Given the description of an element on the screen output the (x, y) to click on. 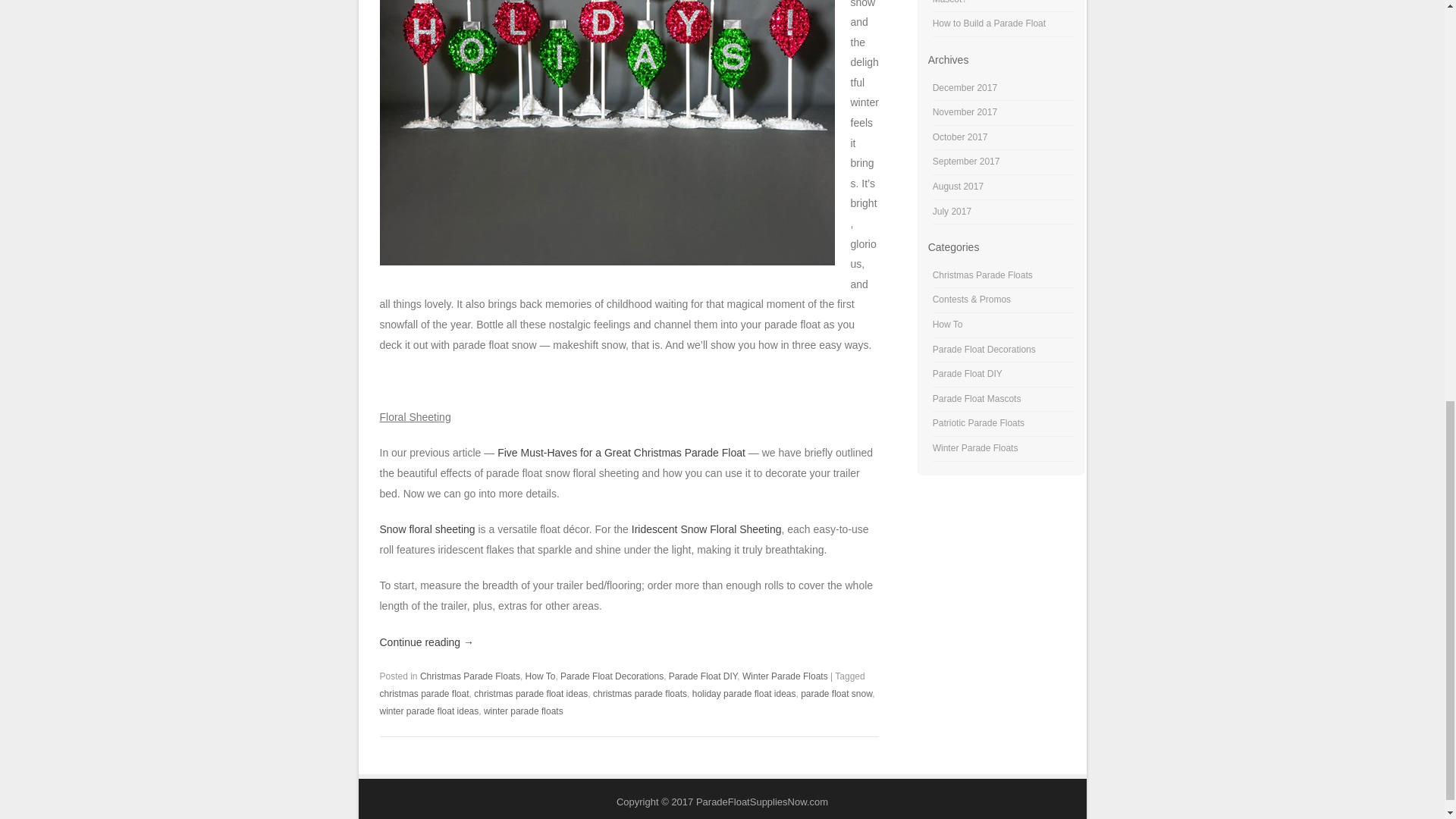
parade float snow (836, 693)
christmas parade floats (639, 693)
September 2017 (966, 161)
Christmas Parade Floats (469, 675)
holiday parade float ideas (744, 693)
christmas parade float (423, 693)
Winter Parade Floats (785, 675)
Snow floral sheeting (426, 529)
Iridescent Snow Floral Sheeting (704, 529)
July 2017 (952, 211)
winter parade float ideas (428, 710)
Christmas Parade Floats (982, 275)
December 2017 (965, 87)
How To (540, 675)
Parade Float Decorations (611, 675)
